Given the description of an element on the screen output the (x, y) to click on. 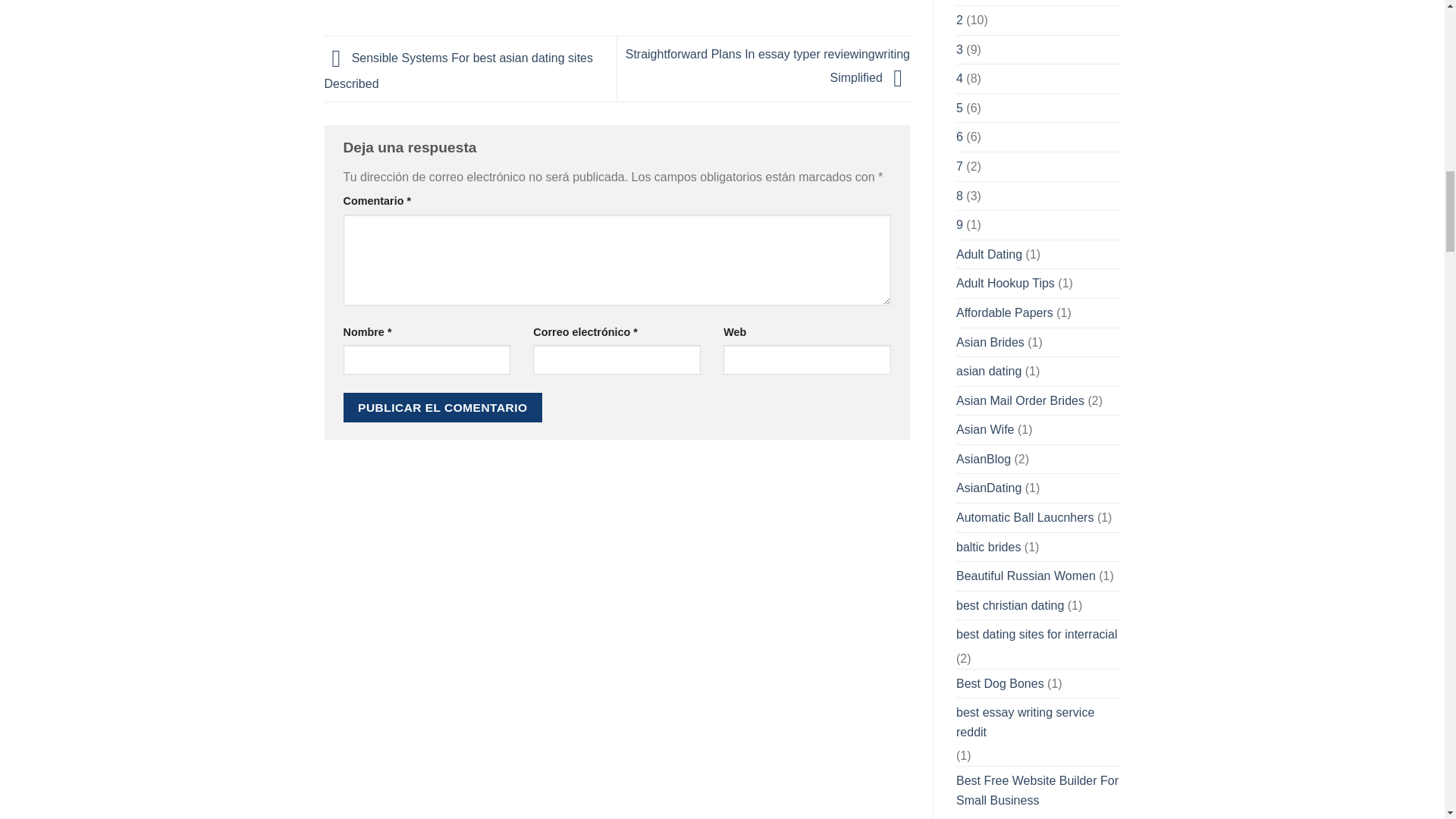
Sensible Systems For best asian dating sites Described (459, 71)
Publicar el comentario (441, 407)
Publicar el comentario (441, 407)
